Given the description of an element on the screen output the (x, y) to click on. 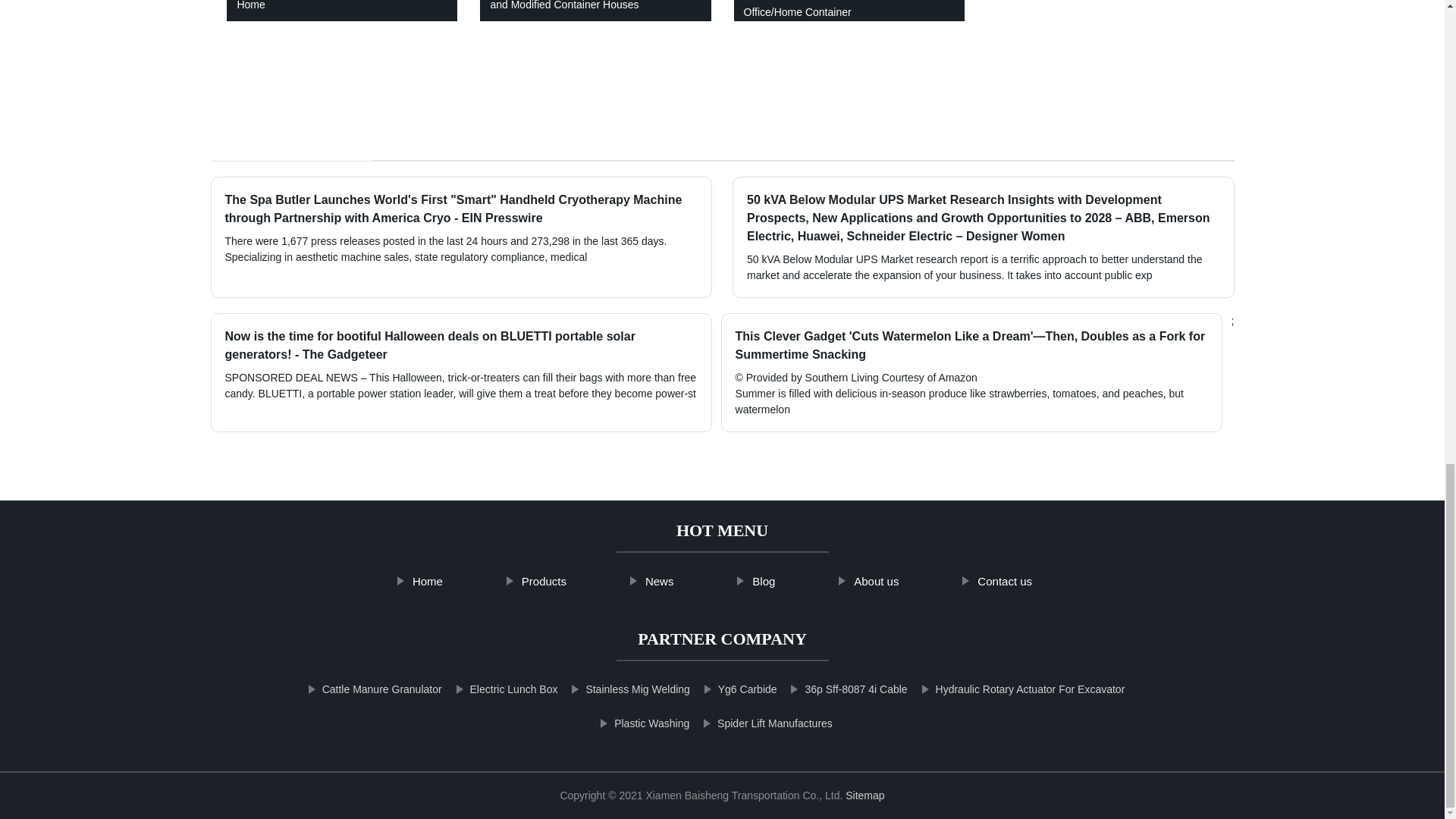
Cattle Manure Granulator (380, 685)
About us (876, 581)
Blog (763, 581)
Contact us (1004, 581)
Products (543, 581)
Home (427, 581)
News (659, 581)
